Given the description of an element on the screen output the (x, y) to click on. 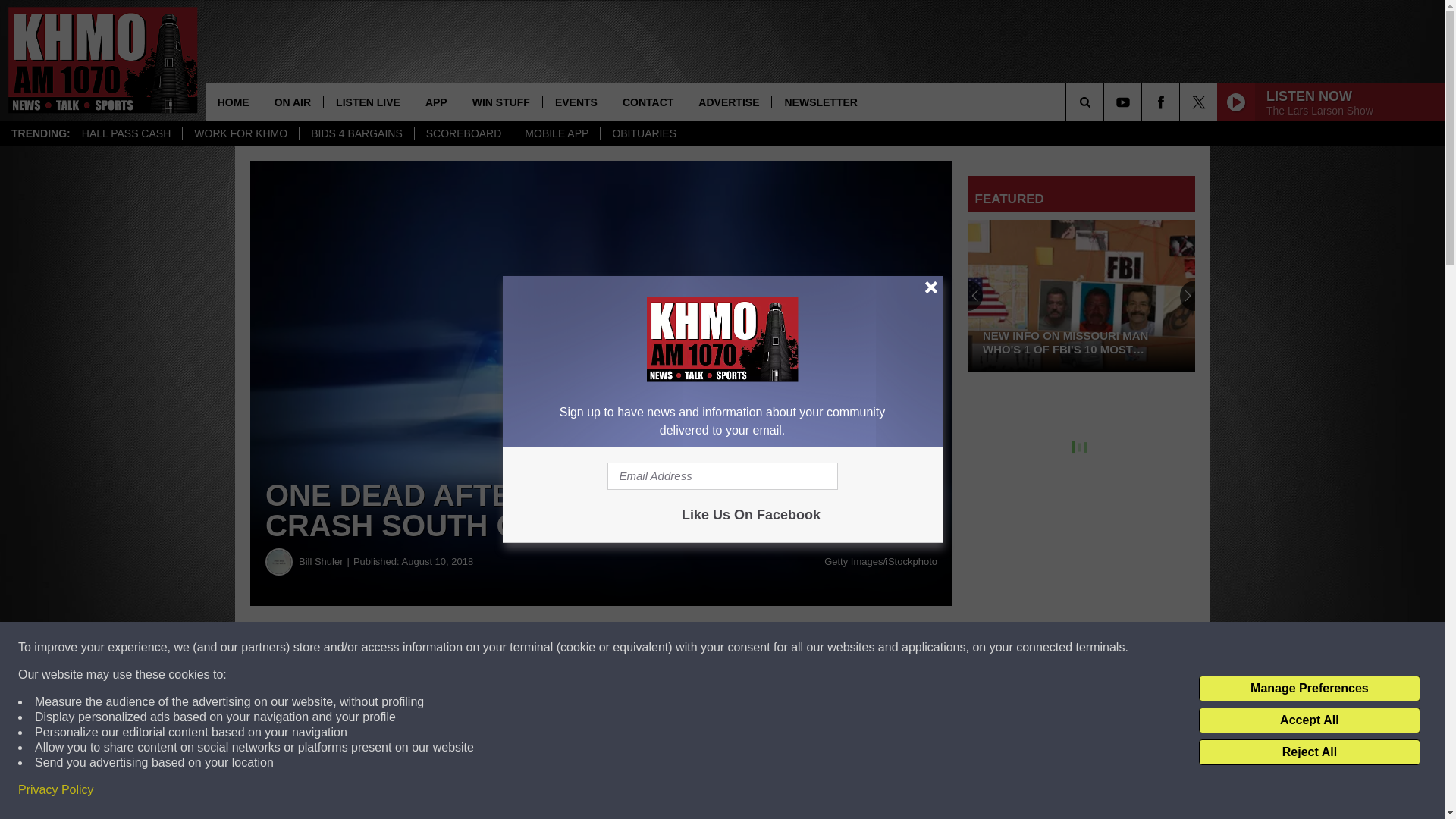
SCOREBOARD (463, 133)
BIDS 4 BARGAINS (355, 133)
WORK FOR KHMO (240, 133)
Manage Preferences (1309, 688)
LISTEN LIVE (367, 102)
Share on Twitter (741, 647)
Email Address (722, 475)
HALL PASS CASH (126, 133)
WIN STUFF (500, 102)
ADVERTISE (728, 102)
Privacy Policy (55, 789)
CONTACT (647, 102)
Accept All (1309, 720)
HOME (233, 102)
SEARCH (1106, 102)
